Given the description of an element on the screen output the (x, y) to click on. 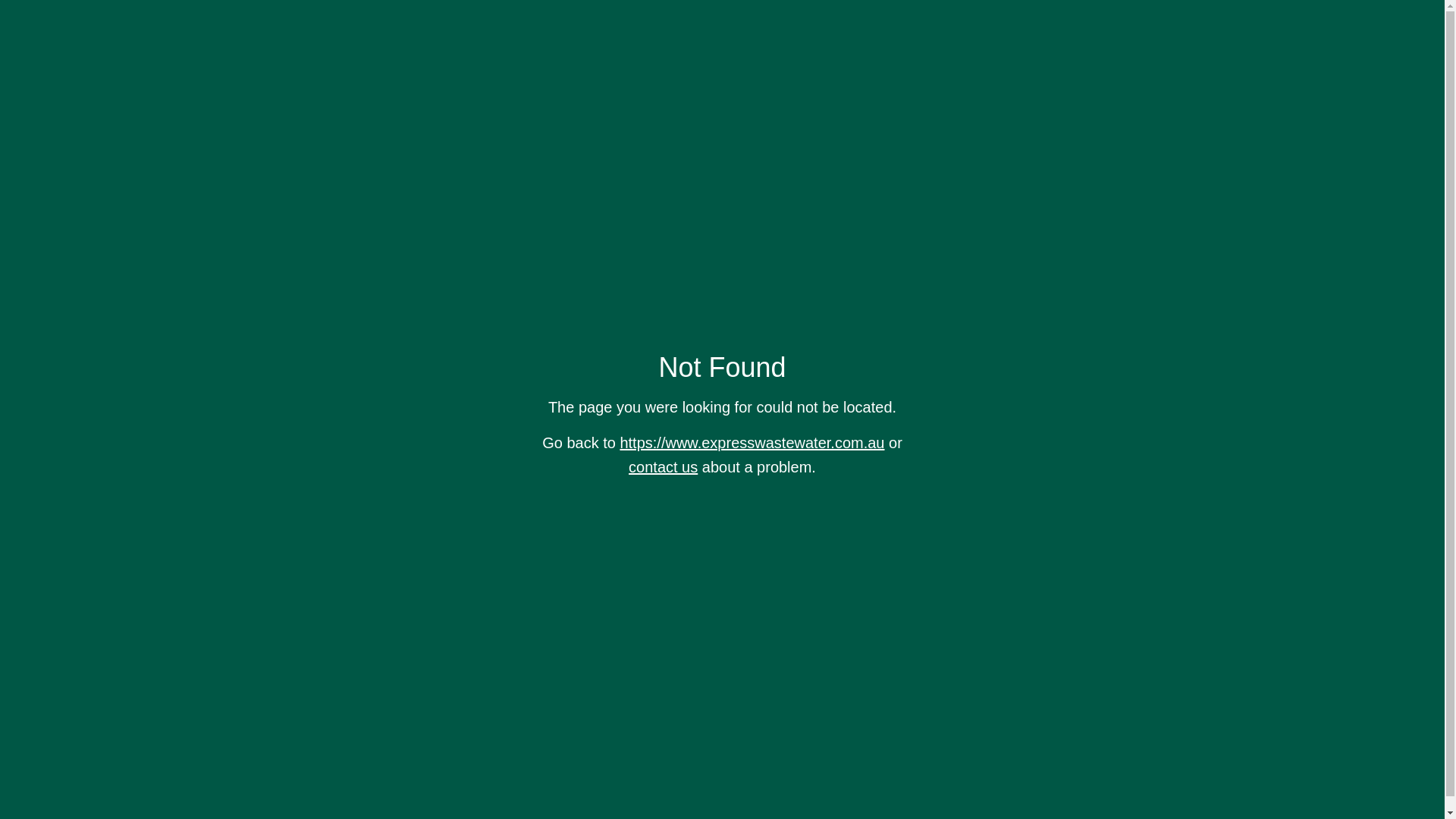
contact us Element type: text (662, 466)
https://www.expresswastewater.com.au Element type: text (751, 442)
